Given the description of an element on the screen output the (x, y) to click on. 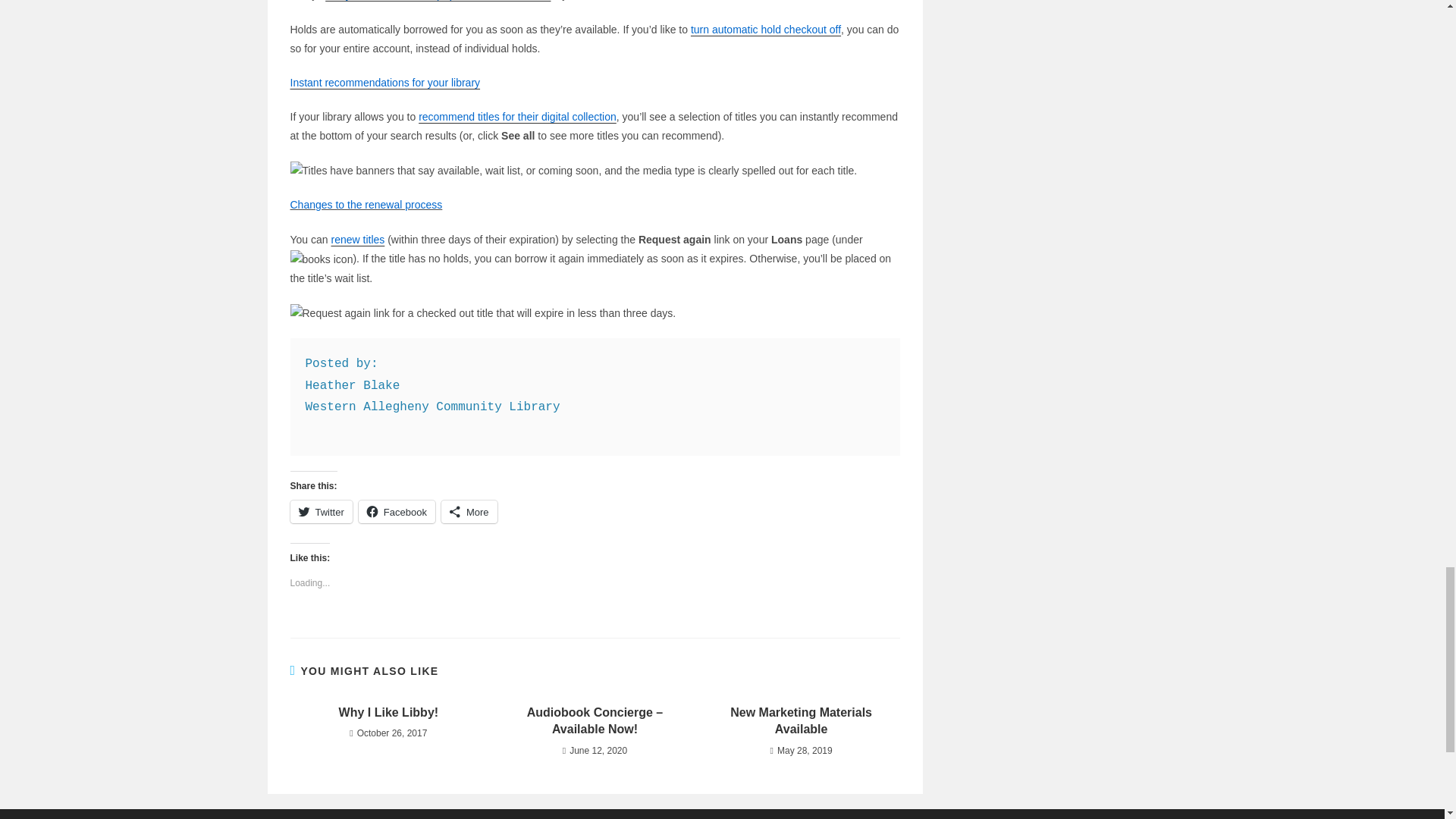
Click to share on Twitter (320, 511)
Click to share on Facebook (396, 511)
